Given the description of an element on the screen output the (x, y) to click on. 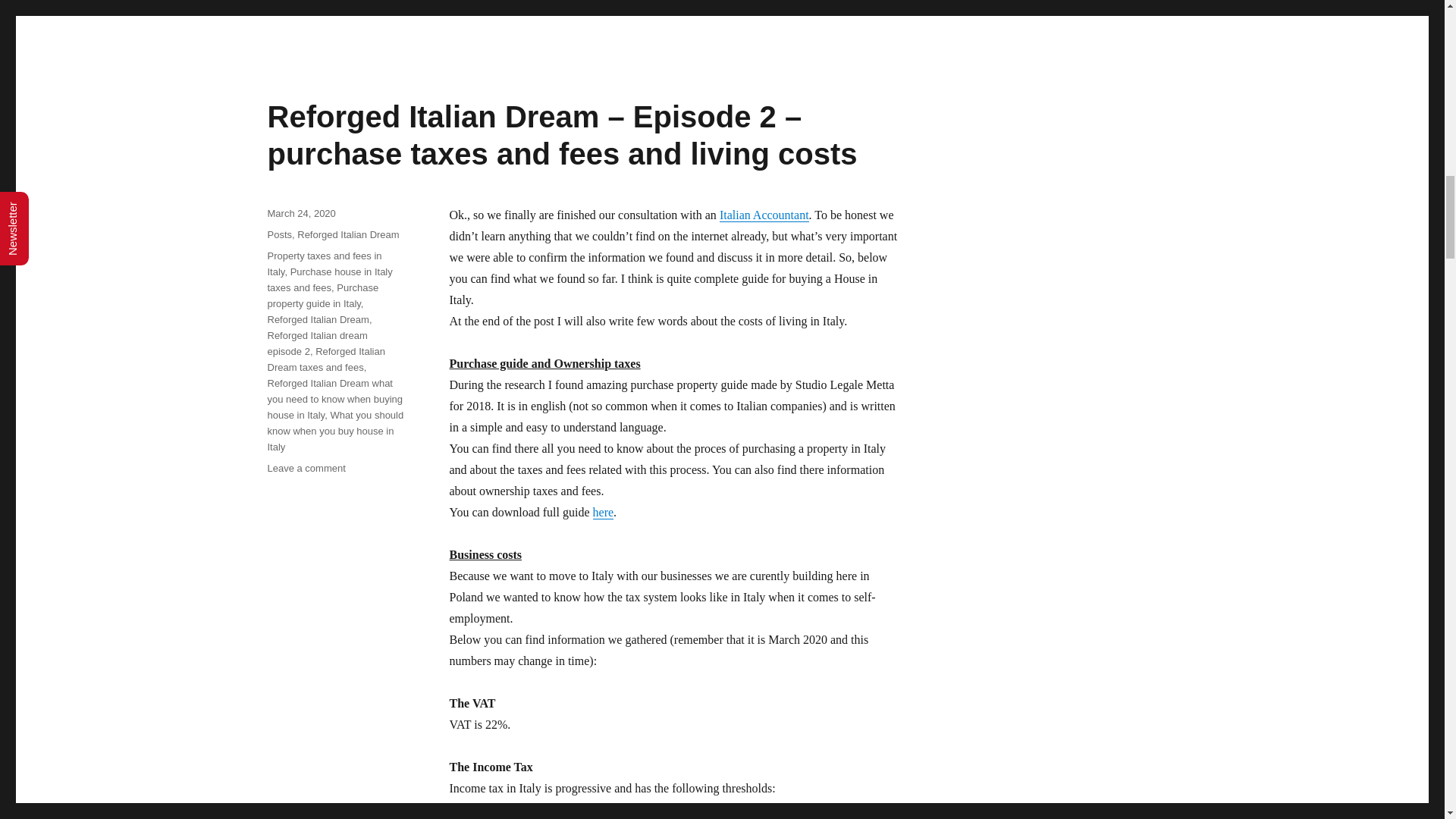
here (603, 512)
Purchase house in Italy taxes and fees (328, 279)
Reforged Italian Dream (347, 234)
Posts (279, 234)
Property taxes and fees in Italy (323, 263)
Italian Accountant (764, 214)
March 24, 2020 (300, 213)
Purchase property guide in Italy (322, 295)
